Given the description of an element on the screen output the (x, y) to click on. 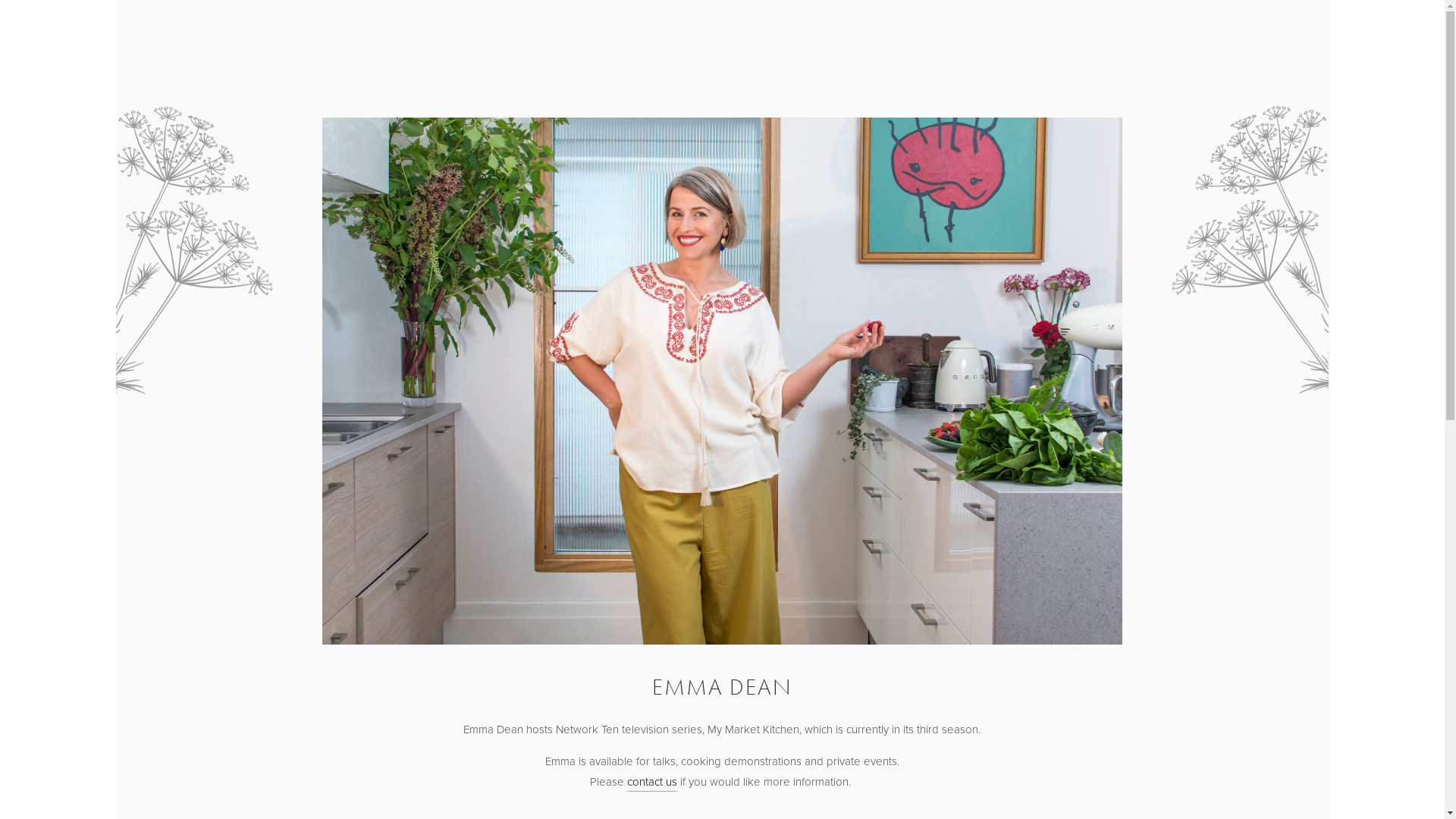
contact us Element type: text (652, 782)
